Given the description of an element on the screen output the (x, y) to click on. 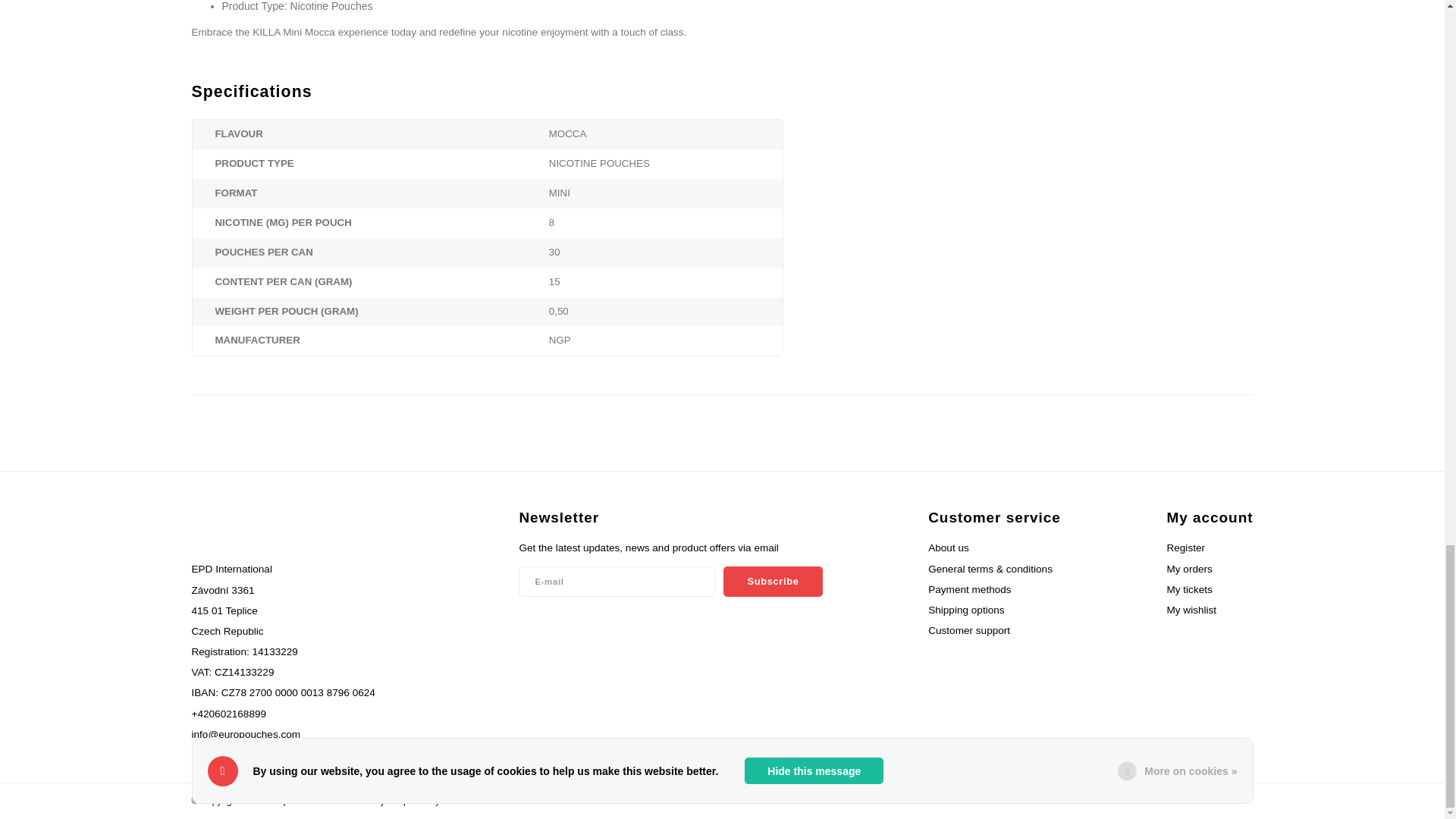
Payment methods (947, 799)
Register (1185, 547)
Subscribe (772, 581)
My wishlist (1190, 609)
My tickets (1188, 589)
Payment methods (921, 799)
My orders (1188, 568)
